Given the description of an element on the screen output the (x, y) to click on. 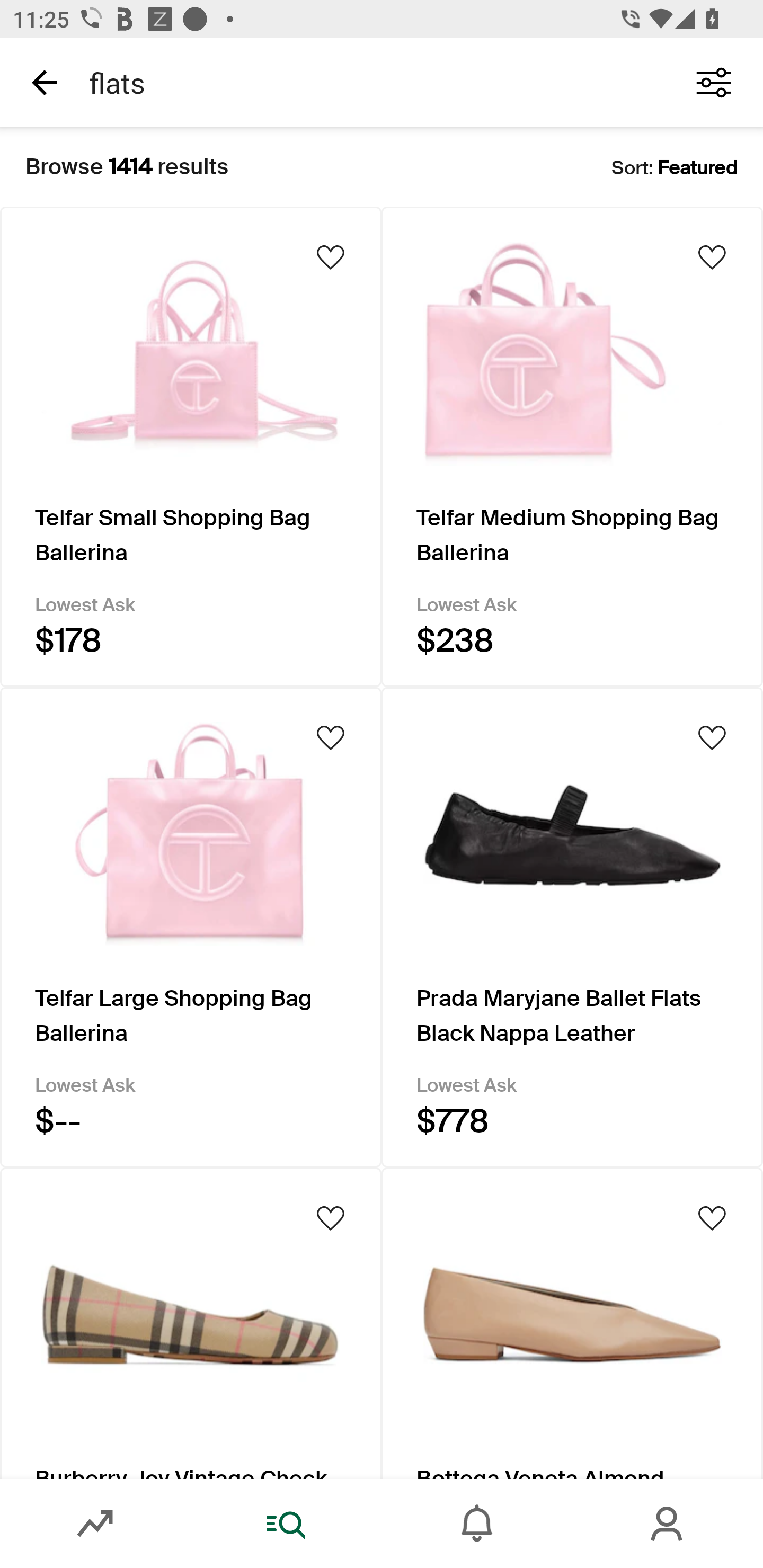
flats (370, 82)
Market (95, 1523)
Inbox (476, 1523)
Account (667, 1523)
